Given the description of an element on the screen output the (x, y) to click on. 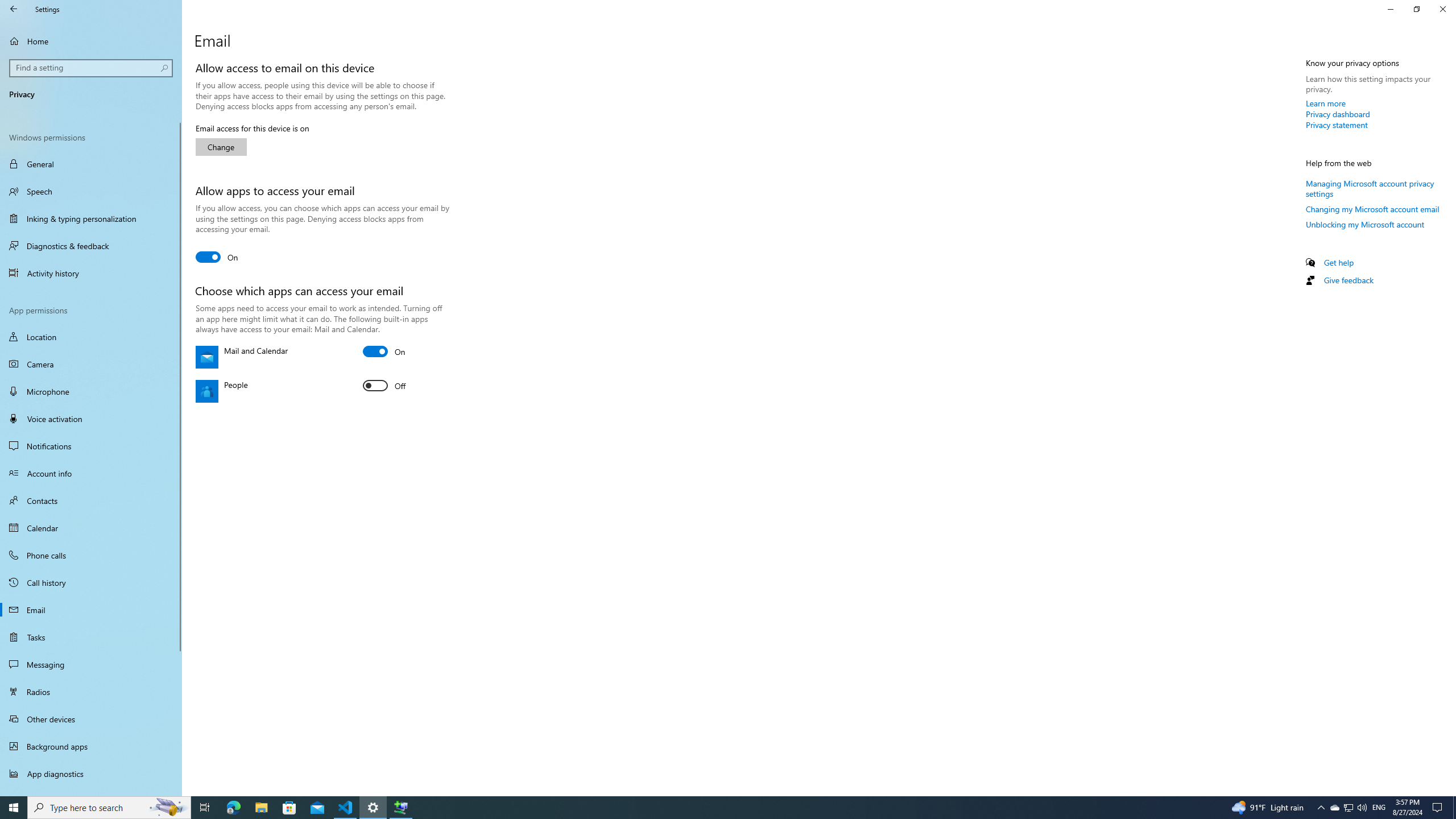
Give feedback (1348, 279)
Search box, Find a setting (91, 67)
Diagnostics & feedback (91, 245)
Account info (1347, 807)
Messaging (91, 472)
Unblocking my Microsoft account (91, 664)
Visual Studio Code - 1 running window (1365, 224)
Voice activation (345, 807)
Location (91, 418)
Activity history (91, 336)
Minimize Settings (91, 272)
Close Settings (1390, 9)
Action Center, No new notifications (1442, 9)
